Given the description of an element on the screen output the (x, y) to click on. 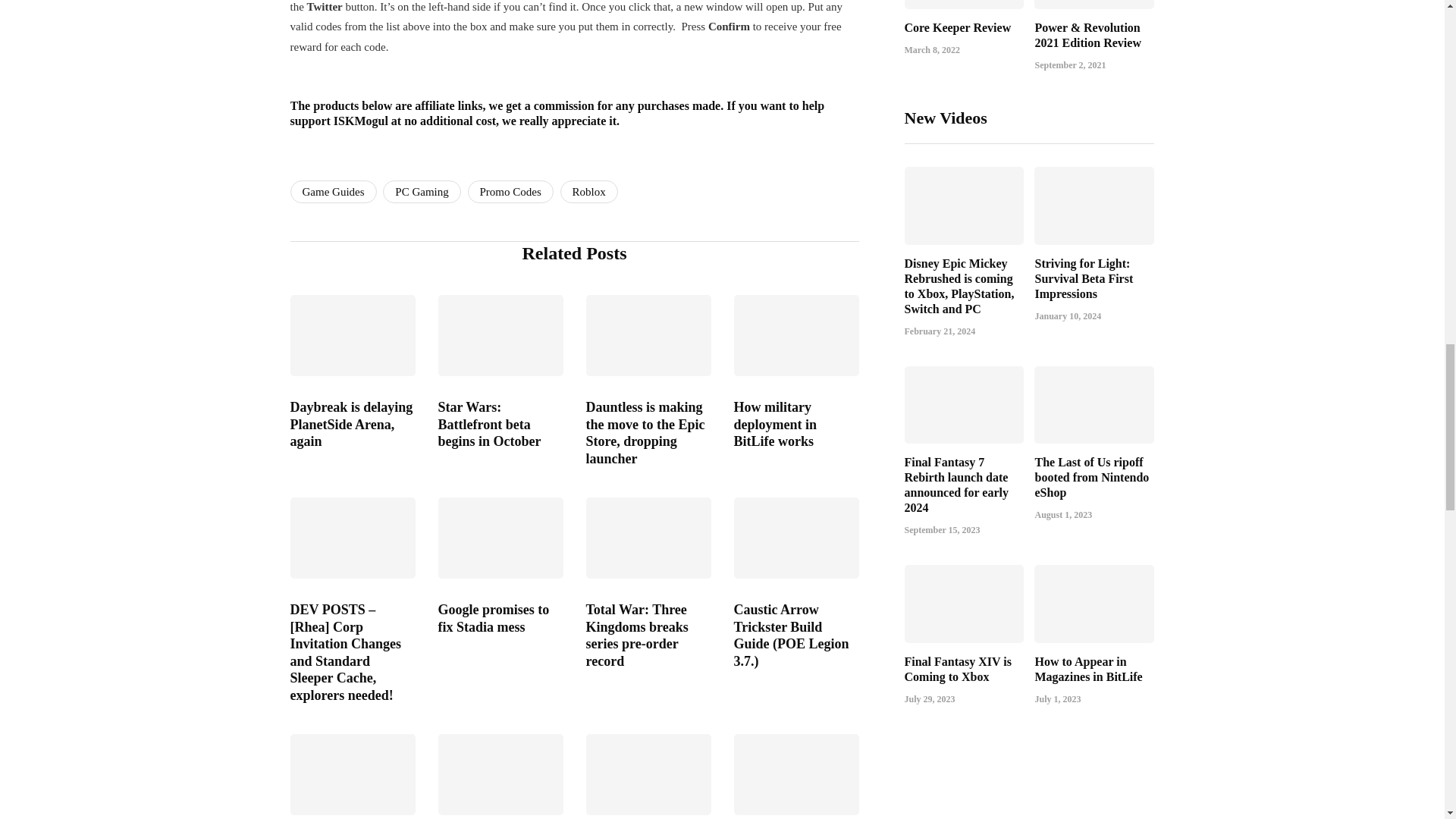
Game Guides (332, 191)
Roblox (588, 191)
PC Gaming (421, 191)
Promo Codes (510, 191)
